Given the description of an element on the screen output the (x, y) to click on. 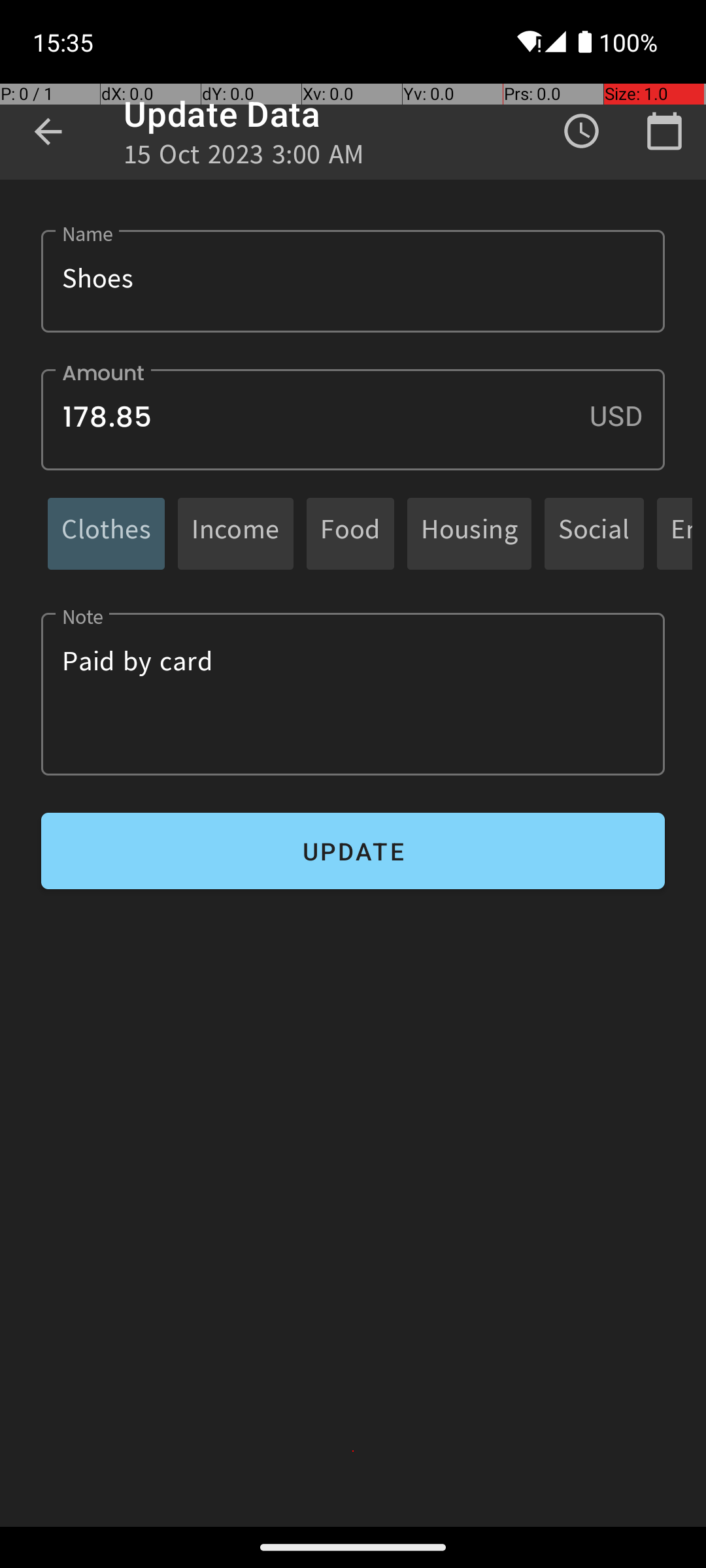
15 Oct 2023 3:00 AM Element type: android.widget.TextView (243, 157)
Shoes Element type: android.widget.EditText (352, 280)
178.85 Element type: android.widget.EditText (352, 419)
Clothes Element type: android.widget.TextView (106, 533)
